Given the description of an element on the screen output the (x, y) to click on. 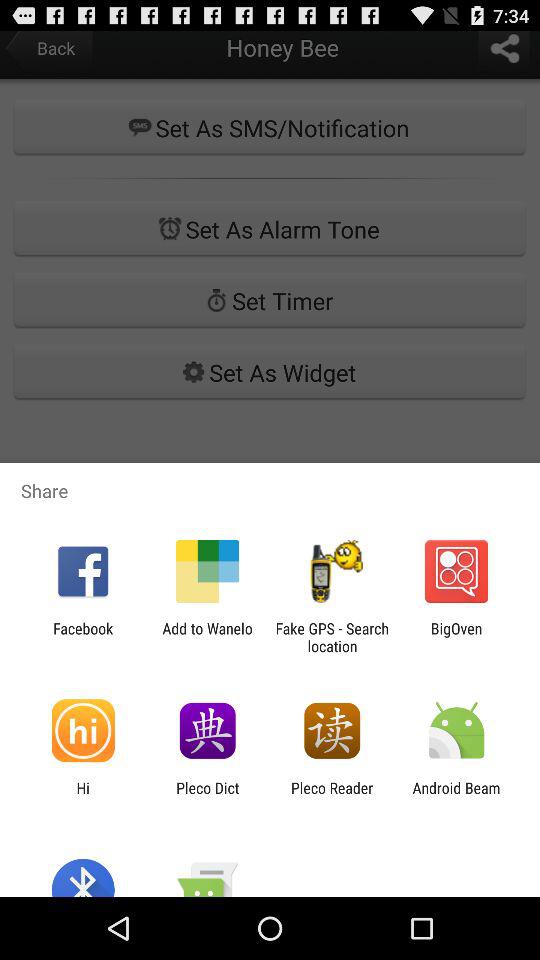
press the item next to facebook icon (207, 637)
